Given the description of an element on the screen output the (x, y) to click on. 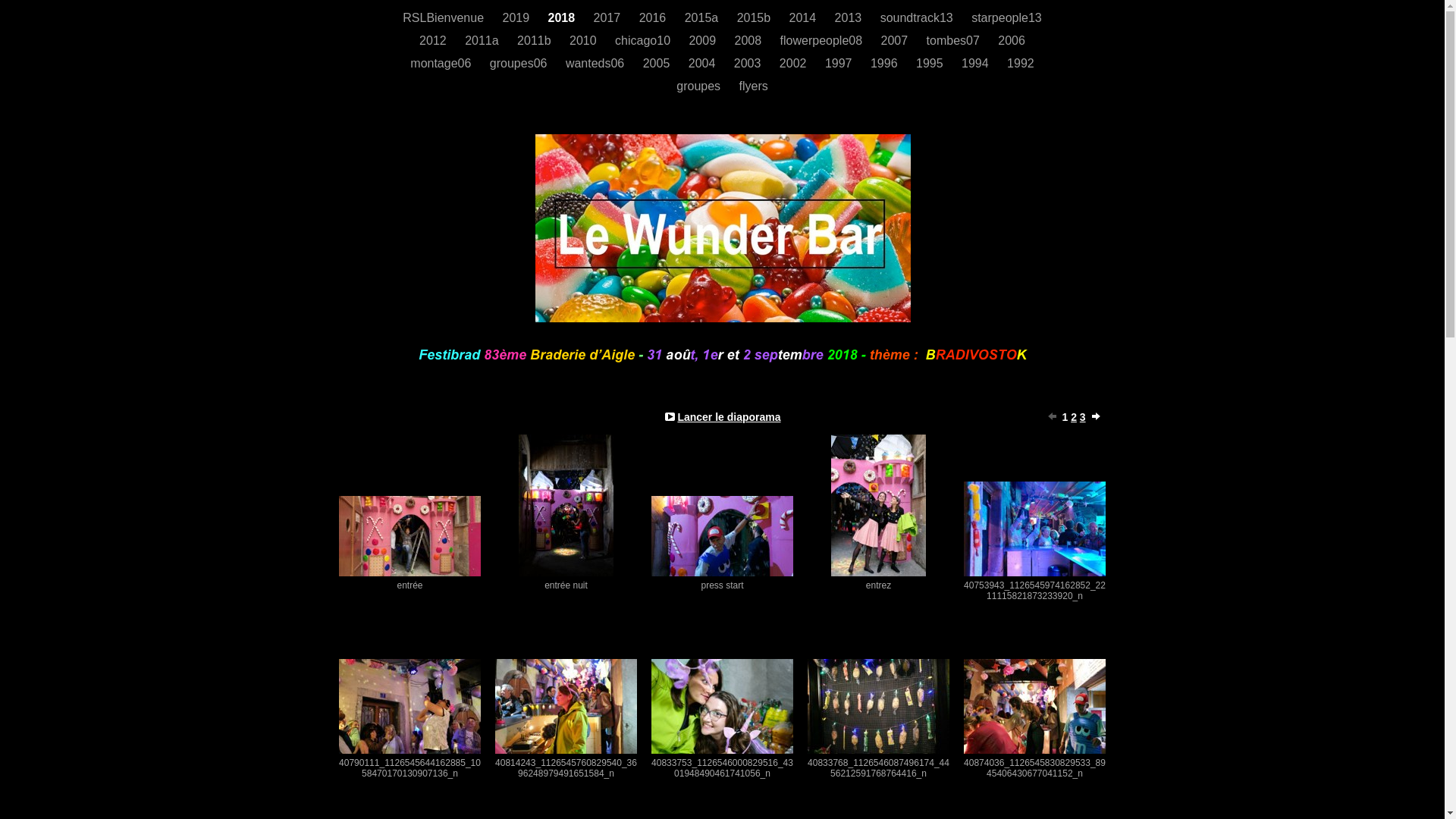
2010 Element type: text (584, 40)
groupes Element type: text (699, 85)
1994 Element type: text (976, 62)
groupes06 Element type: text (519, 62)
2017 Element type: text (608, 17)
2019 Element type: text (517, 17)
1995 Element type: text (931, 62)
1996 Element type: text (885, 62)
2003 Element type: text (749, 62)
2012 Element type: text (434, 40)
RSLBienvenue Element type: text (444, 17)
2009 Element type: text (703, 40)
2016 Element type: text (654, 17)
2015a Element type: text (702, 17)
2004 Element type: text (703, 62)
Lancer le diaporama Element type: text (728, 417)
2011a Element type: text (483, 40)
montage06 Element type: text (442, 62)
2013 Element type: text (849, 17)
wanteds06 Element type: text (596, 62)
2006 Element type: text (1011, 40)
1997 Element type: text (840, 62)
2002 Element type: text (794, 62)
2 Element type: text (1073, 417)
2007 Element type: text (896, 40)
2011b Element type: text (535, 40)
2005 Element type: text (658, 62)
2014 Element type: text (804, 17)
3 Element type: text (1082, 417)
tombes07 Element type: text (954, 40)
1992 Element type: text (1020, 62)
soundtrack13 Element type: text (918, 17)
flowerpeople08 Element type: text (823, 40)
2018 Element type: text (563, 17)
flyers Element type: text (753, 85)
chicago10 Element type: text (644, 40)
starpeople13 Element type: text (1006, 17)
2015b Element type: text (755, 17)
2008 Element type: text (749, 40)
